Given the description of an element on the screen output the (x, y) to click on. 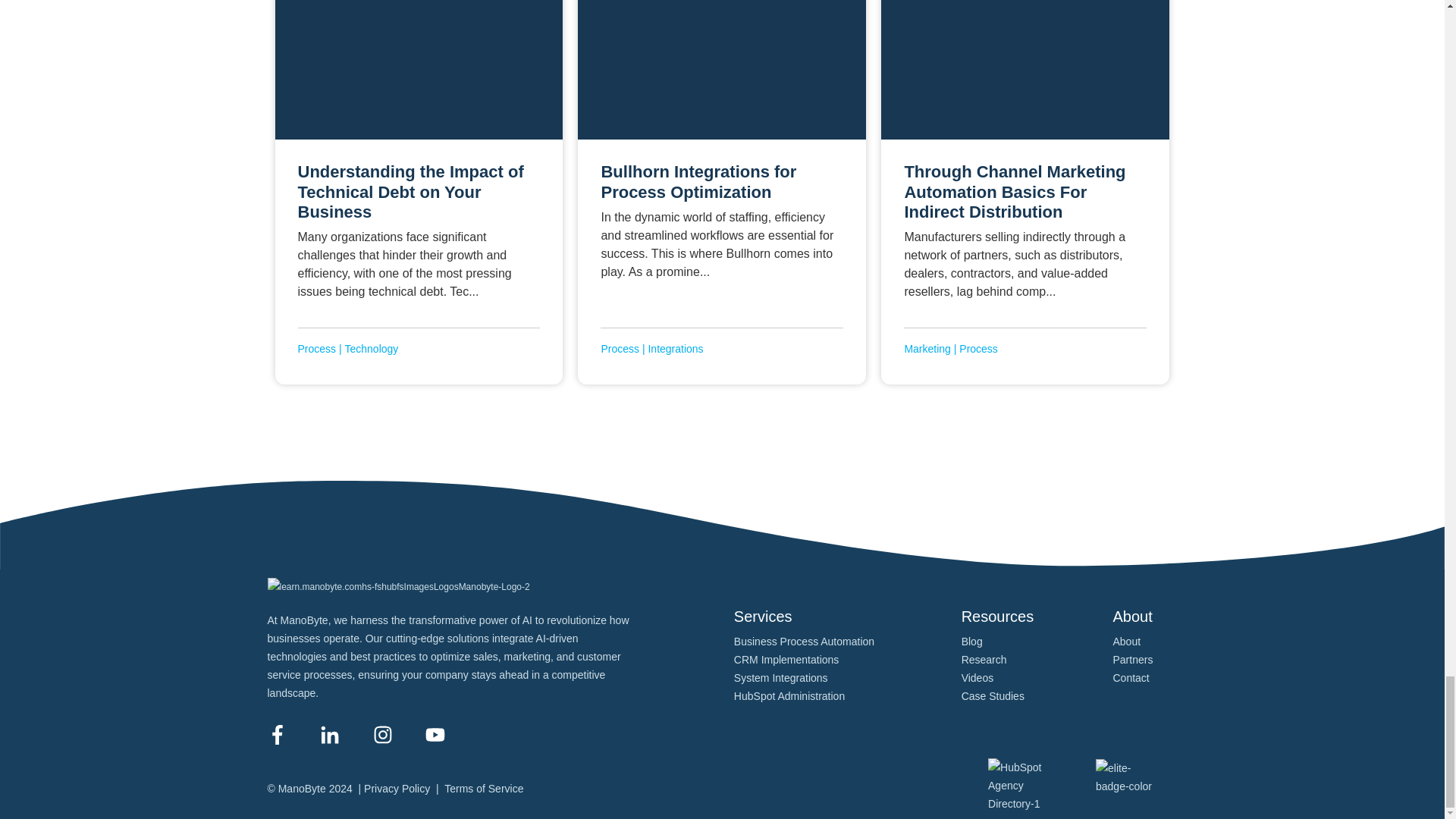
Follow us on LinkedIn (329, 734)
Follow us on Youtube (435, 734)
Follow us on Facebook (276, 734)
Follow us on Instagram (382, 734)
learn.manobyte.comhs-fshubfsImagesLogosManobyte-Logo-2 (397, 587)
